Given the description of an element on the screen output the (x, y) to click on. 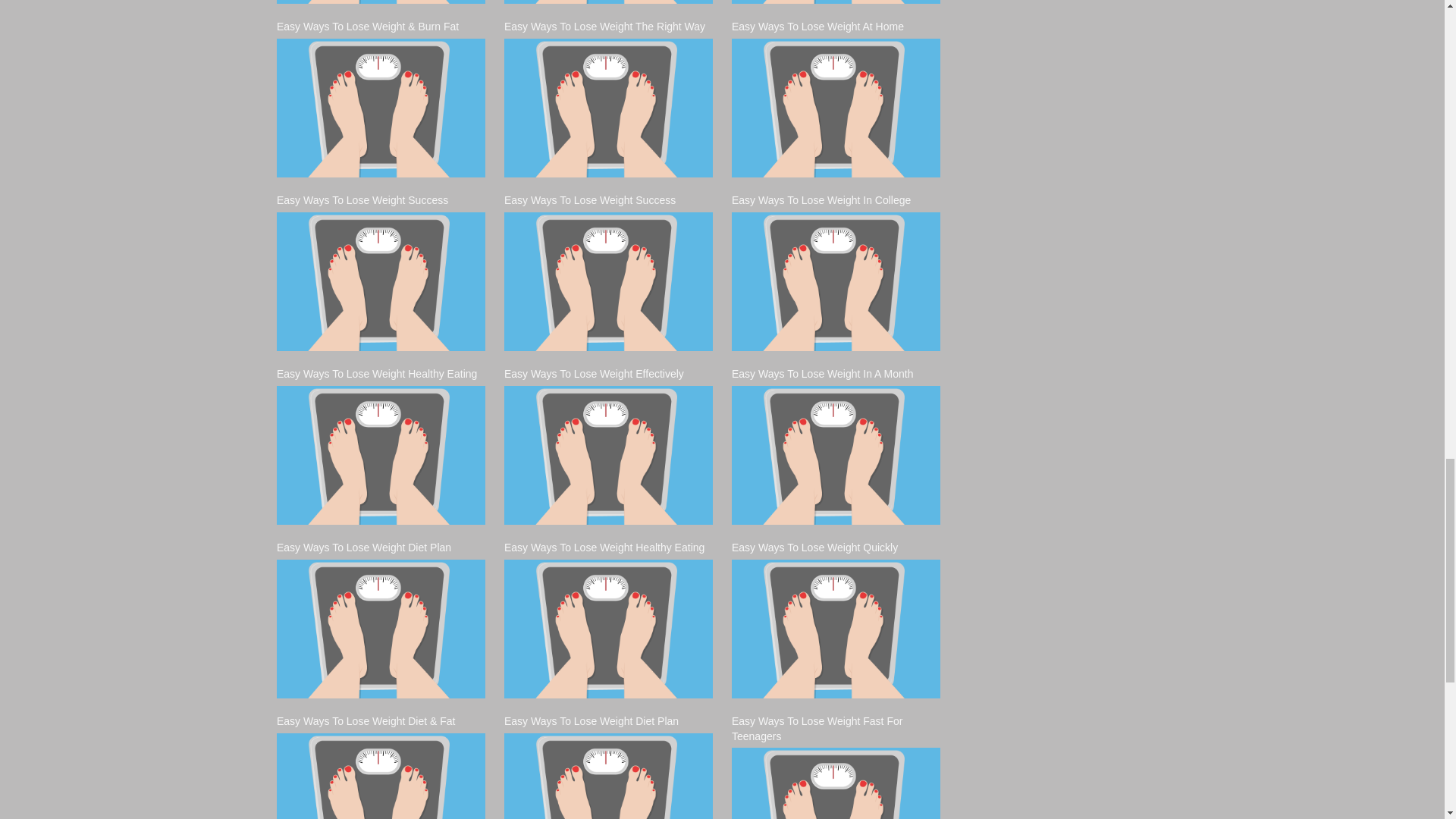
Easy Ways To Lose Weight Healthy Eating (380, 454)
Easy Ways To Lose Weight Success (380, 281)
Easy Ways To Lose Weight Information (380, 2)
